Given the description of an element on the screen output the (x, y) to click on. 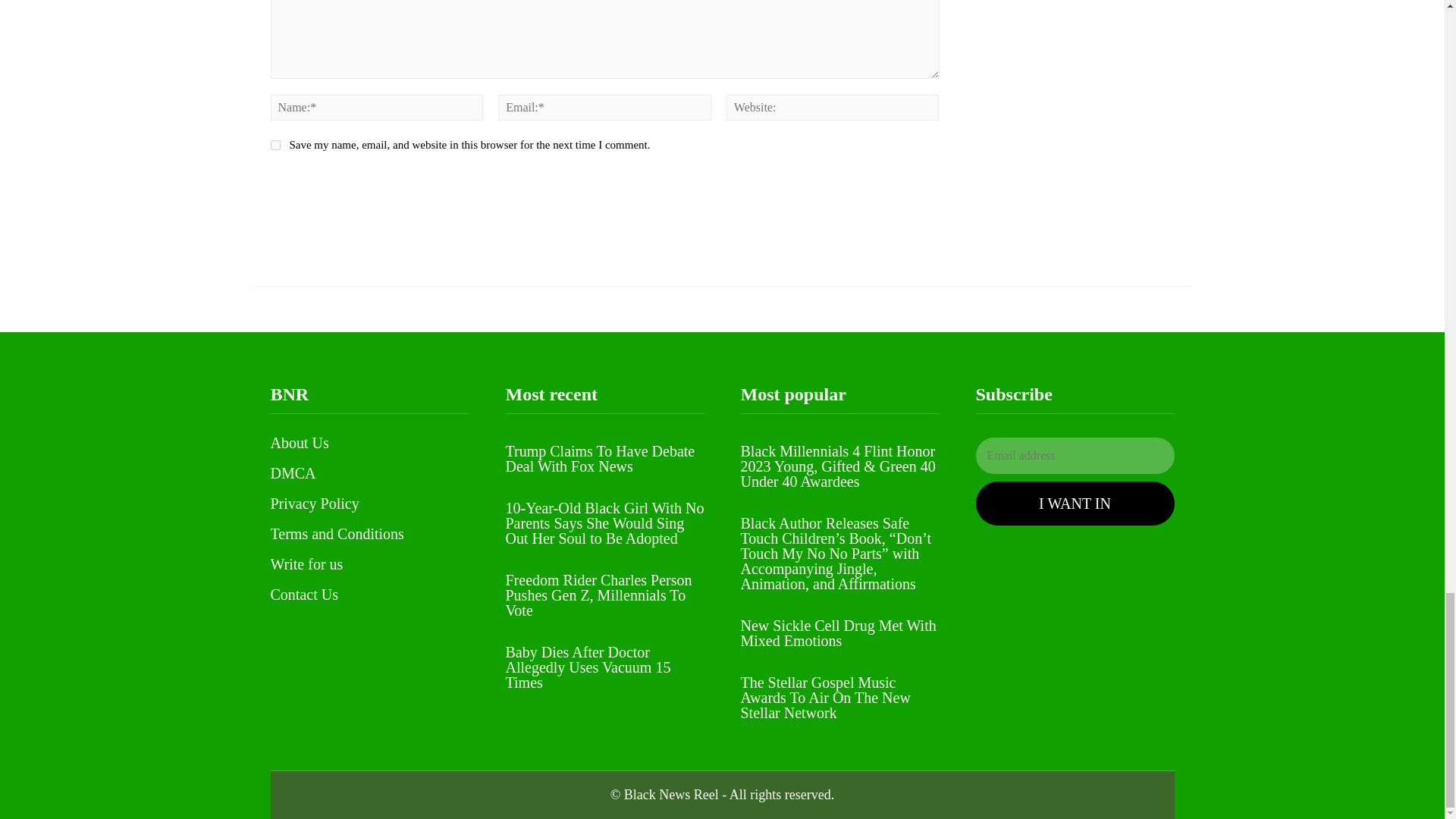
yes (274, 144)
Post Comment (338, 185)
